Given the description of an element on the screen output the (x, y) to click on. 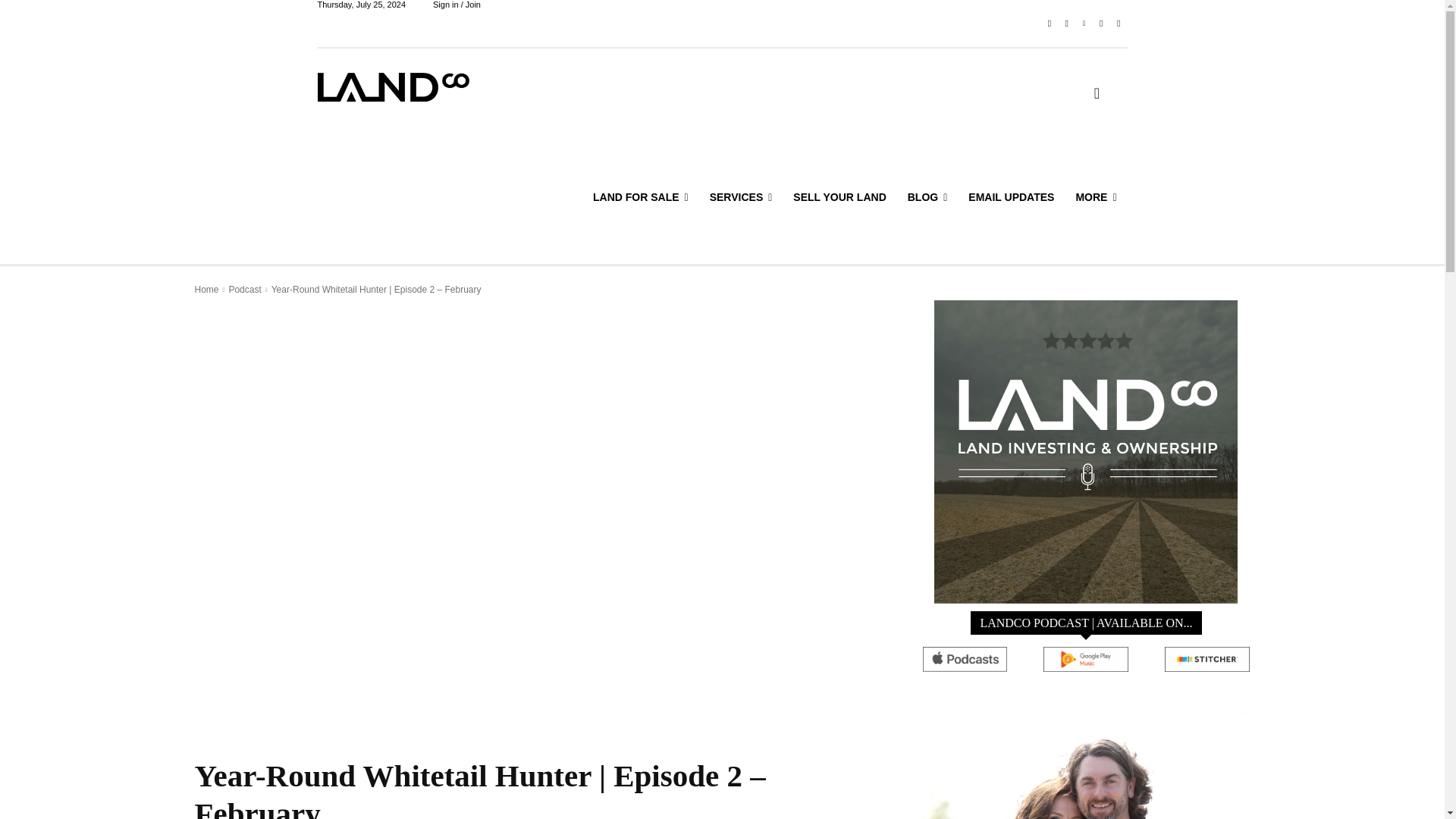
Linkedin (1084, 23)
Facebook (1049, 23)
Instagram (1066, 23)
View all posts in Podcast (244, 289)
Youtube (1117, 23)
Twitter (1101, 23)
LAND FOR SALE (640, 197)
